Given the description of an element on the screen output the (x, y) to click on. 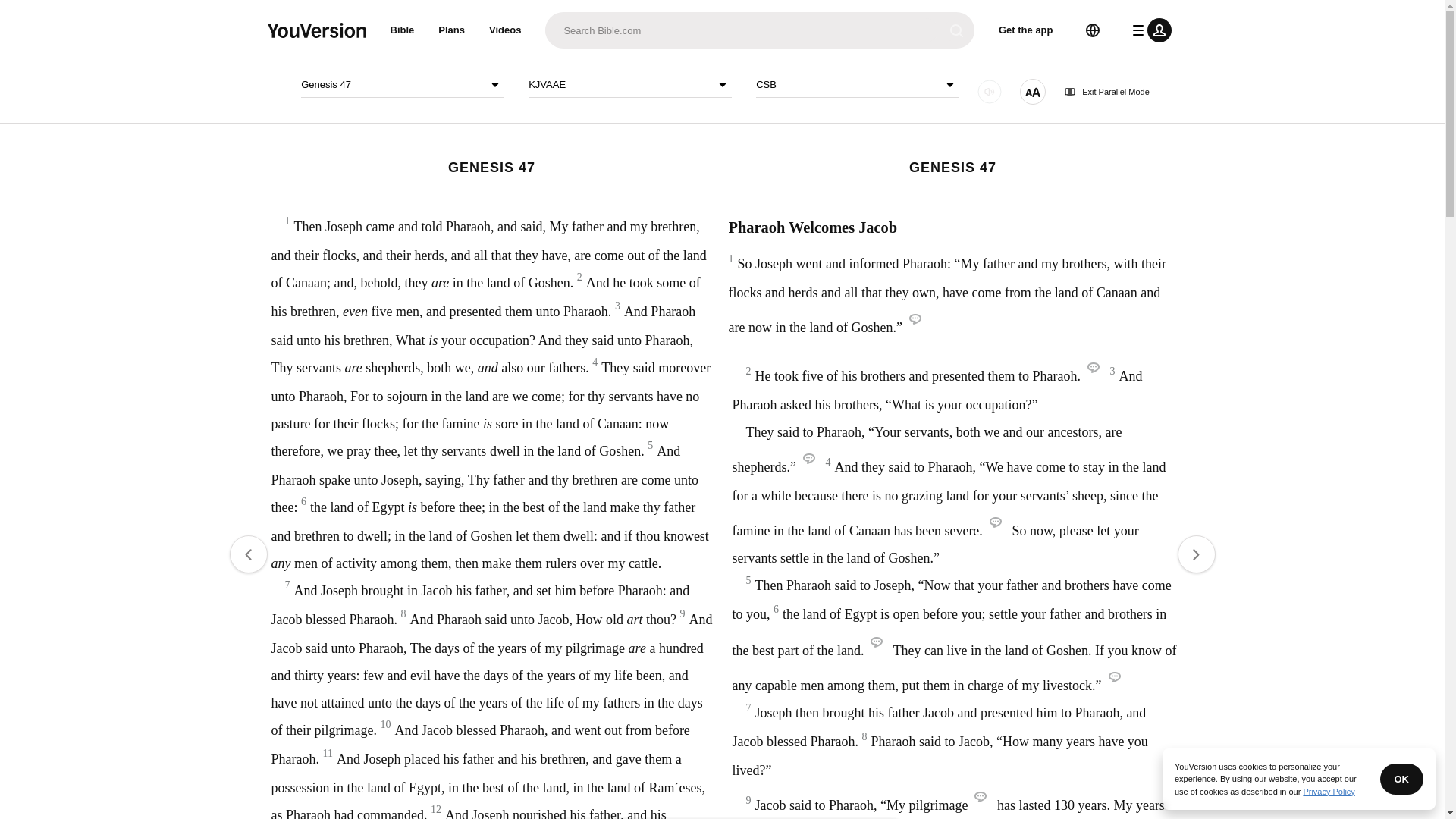
KJVAAE (630, 84)
Plans (451, 29)
Videos (504, 29)
CSB (857, 84)
Get the app (1026, 29)
Genesis 47 (402, 84)
Exit Parallel Mode (1107, 91)
Bible (401, 29)
